Given the description of an element on the screen output the (x, y) to click on. 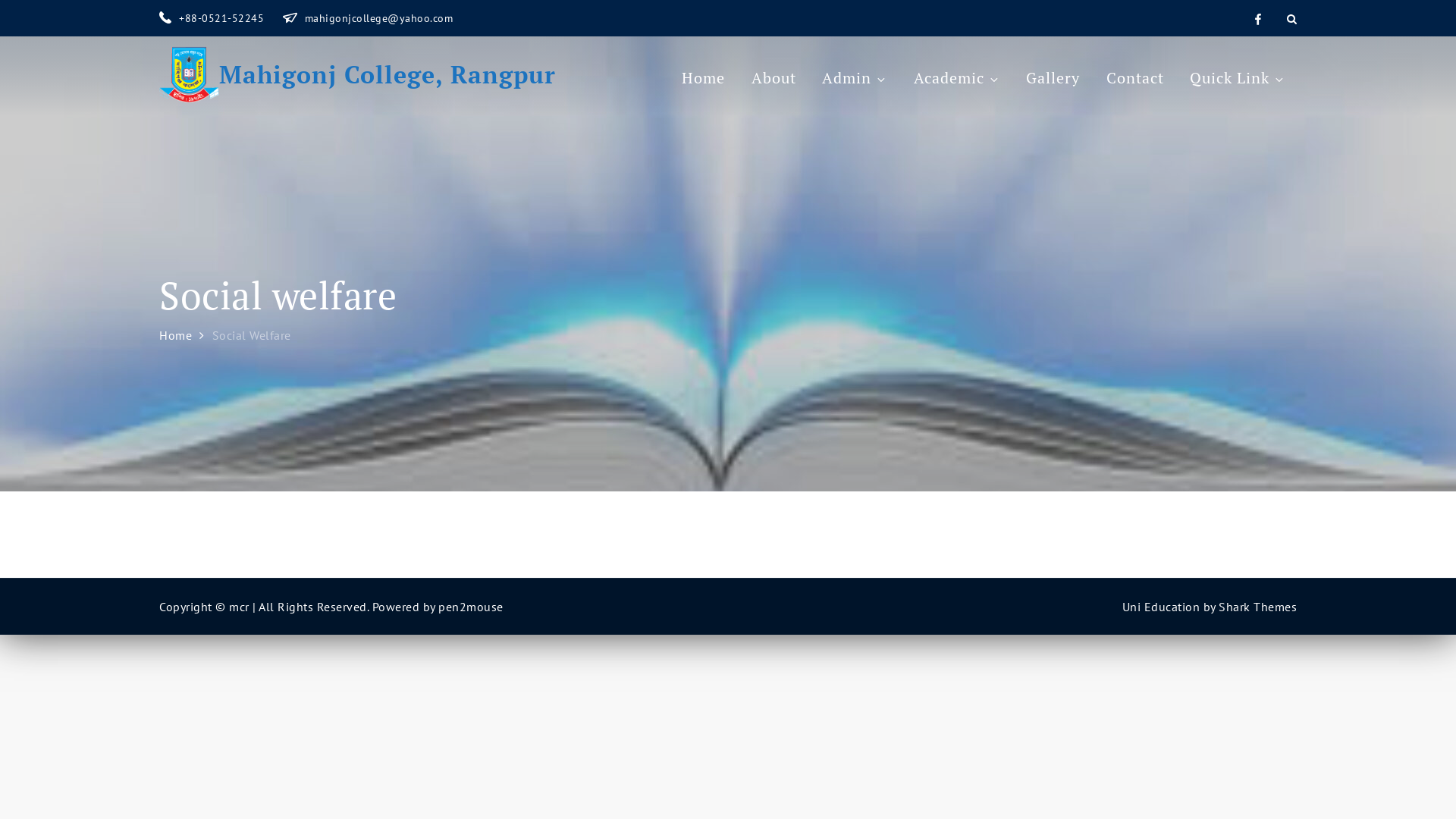
Academic Element type: text (956, 78)
Contact Element type: text (1135, 78)
Quick Link Element type: text (1237, 78)
Admin Element type: text (854, 78)
Shark Themes Element type: text (1257, 606)
Home Element type: text (175, 334)
Skip to content Element type: text (0, 0)
About Element type: text (773, 78)
Gallery Element type: text (1052, 78)
+88-0521-52245 Element type: text (213, 18)
Home Element type: text (703, 78)
mahigonjcollege@yahoo.com Element type: text (367, 18)
Facebook Element type: text (1258, 18)
Mahigonj College, Rangpur Element type: text (387, 74)
